Given the description of an element on the screen output the (x, y) to click on. 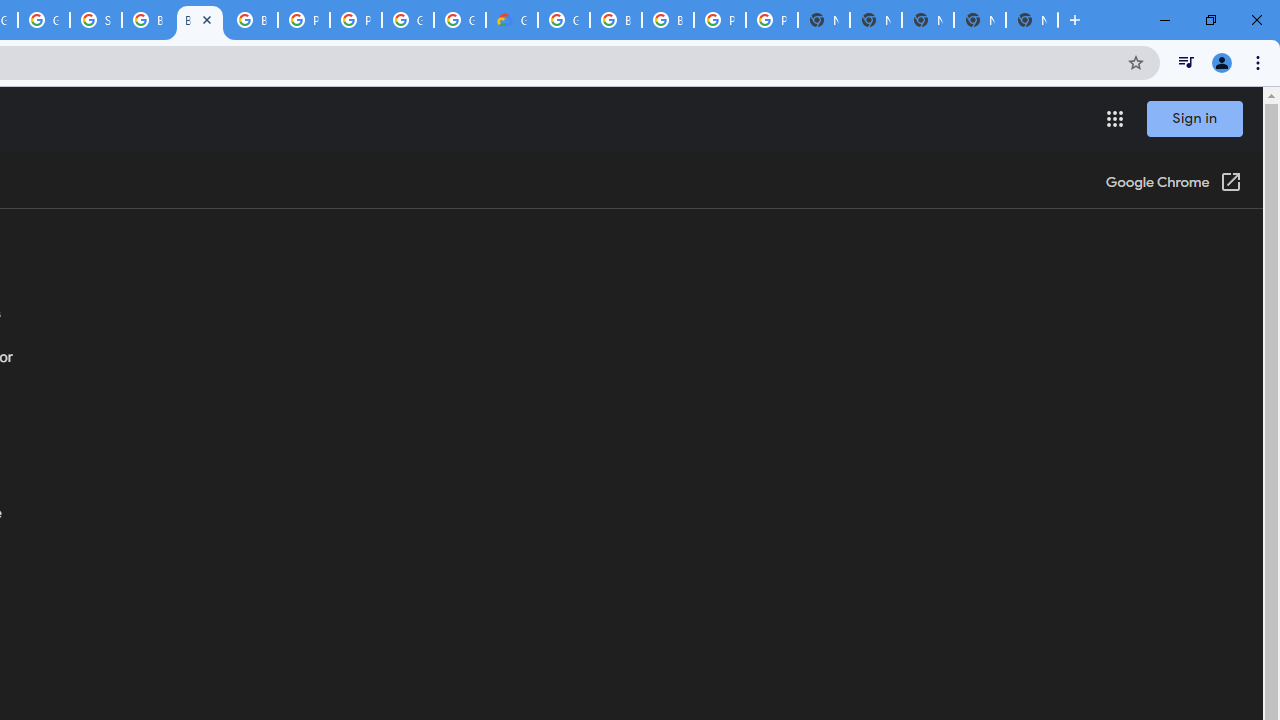
Google Chrome (Open in a new window) (1173, 183)
Chrome (1260, 62)
Google Cloud Platform (563, 20)
Sign in - Google Accounts (95, 20)
Browse Chrome as a guest - Computer - Google Chrome Help (616, 20)
Browse Chrome as a guest - Computer - Google Chrome Help (147, 20)
Google Cloud Platform (407, 20)
Google apps (1114, 118)
Sign in (1194, 118)
New Tab (1032, 20)
Minimize (1165, 20)
